Given the description of an element on the screen output the (x, y) to click on. 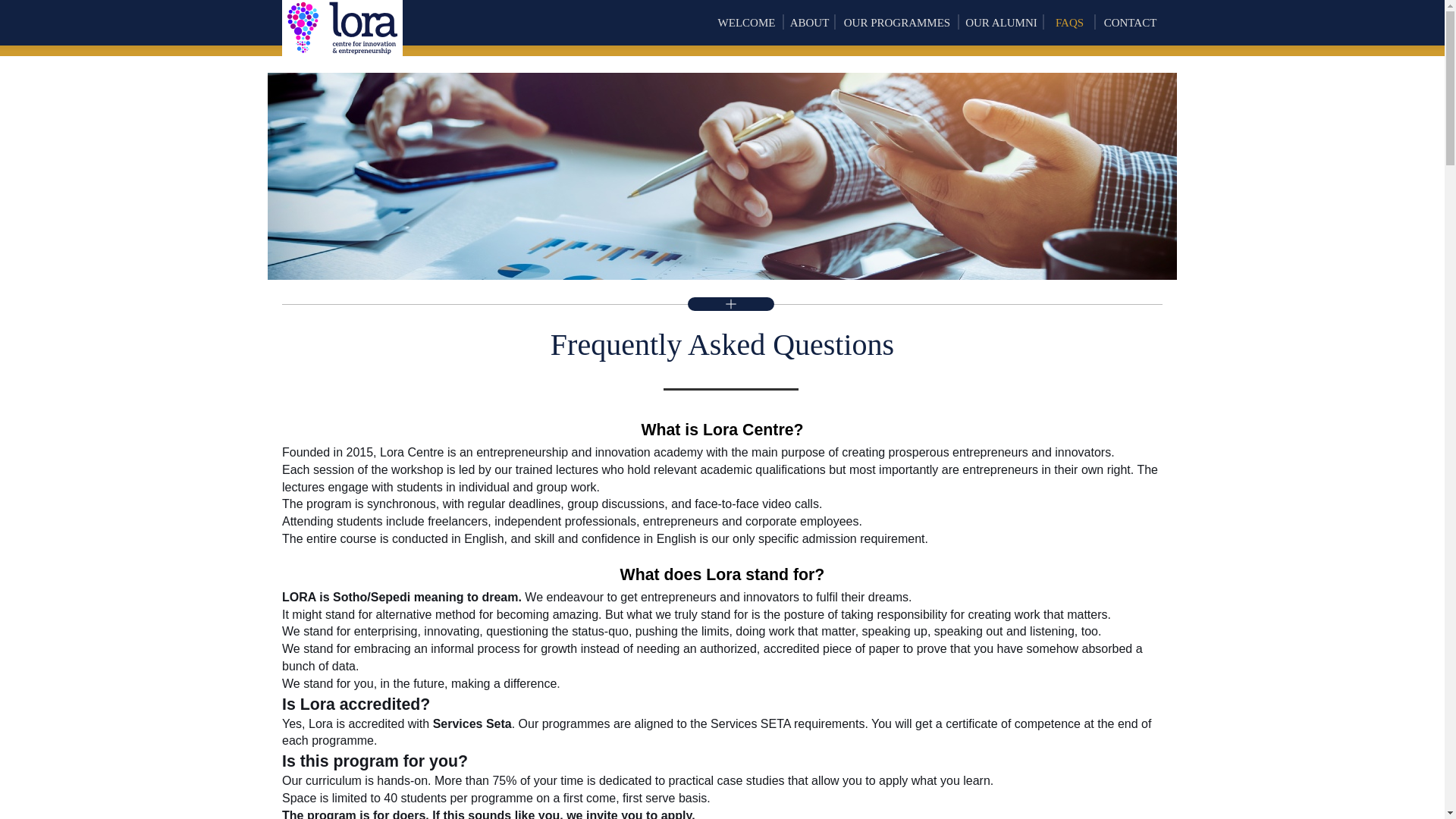
FAQS (1069, 22)
WELCOME (746, 22)
OUR PROGRAMMES (897, 22)
CONTACT (1129, 22)
ABOUT (809, 22)
OUR ALUMNI (1000, 22)
